Given the description of an element on the screen output the (x, y) to click on. 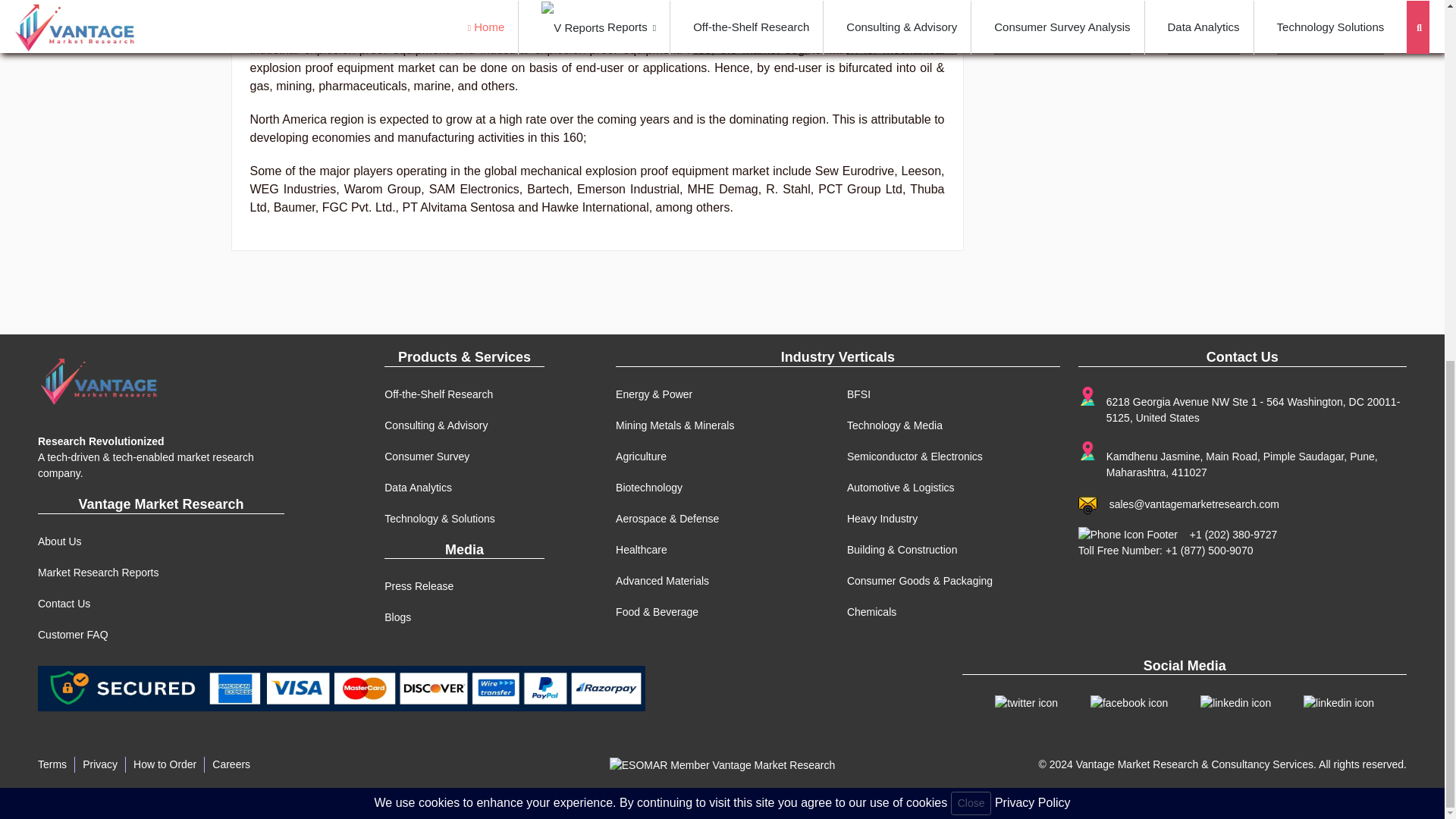
Customer FAQ (72, 634)
Blogs (397, 616)
Consumer Survey (426, 456)
Market Research Reports (97, 572)
Data Analytics (417, 487)
Off-the-Shelf Research (438, 394)
Press Release (418, 585)
Contact Us (63, 603)
